Given the description of an element on the screen output the (x, y) to click on. 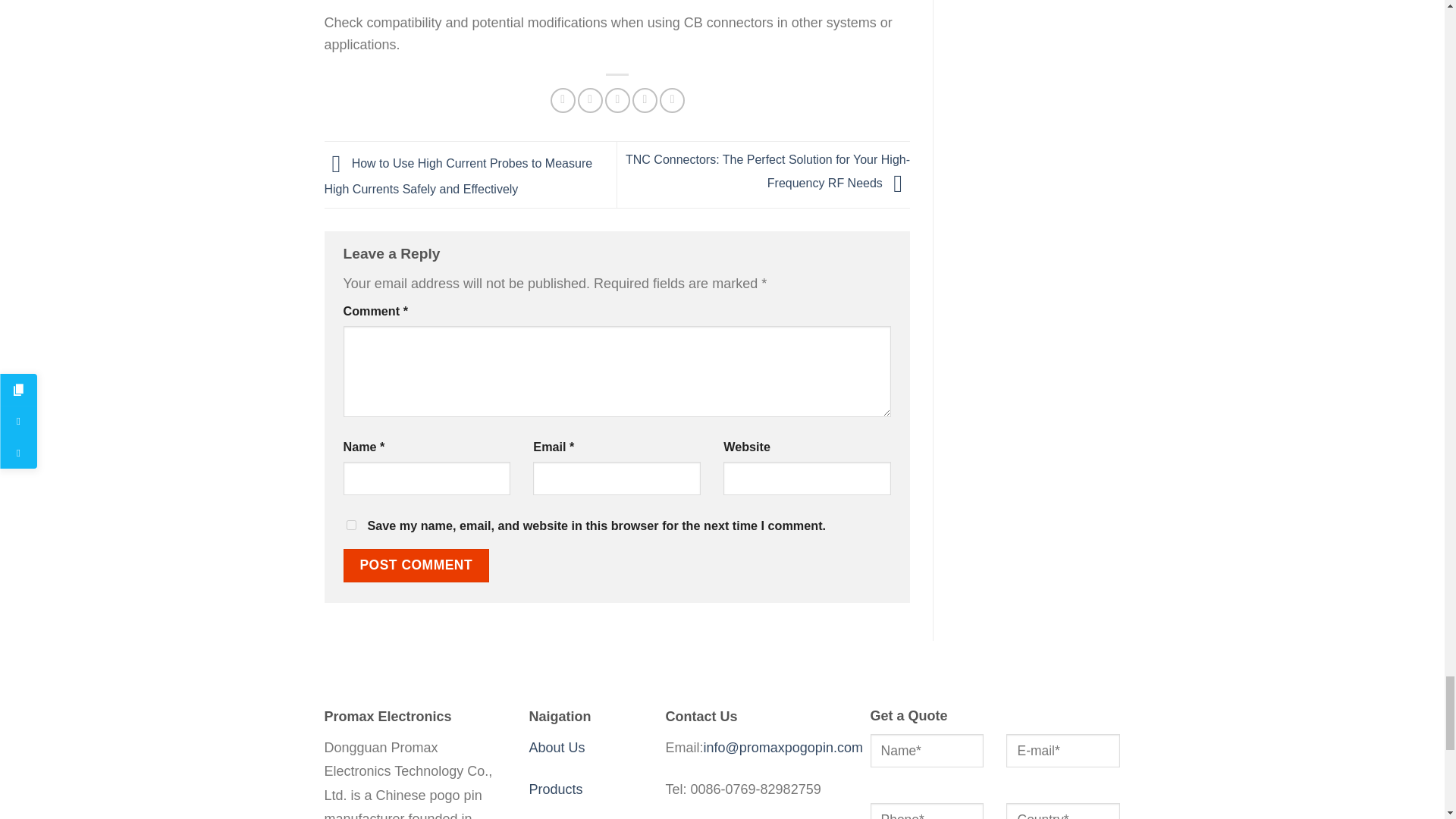
yes (350, 524)
Post Comment (415, 565)
